Given the description of an element on the screen output the (x, y) to click on. 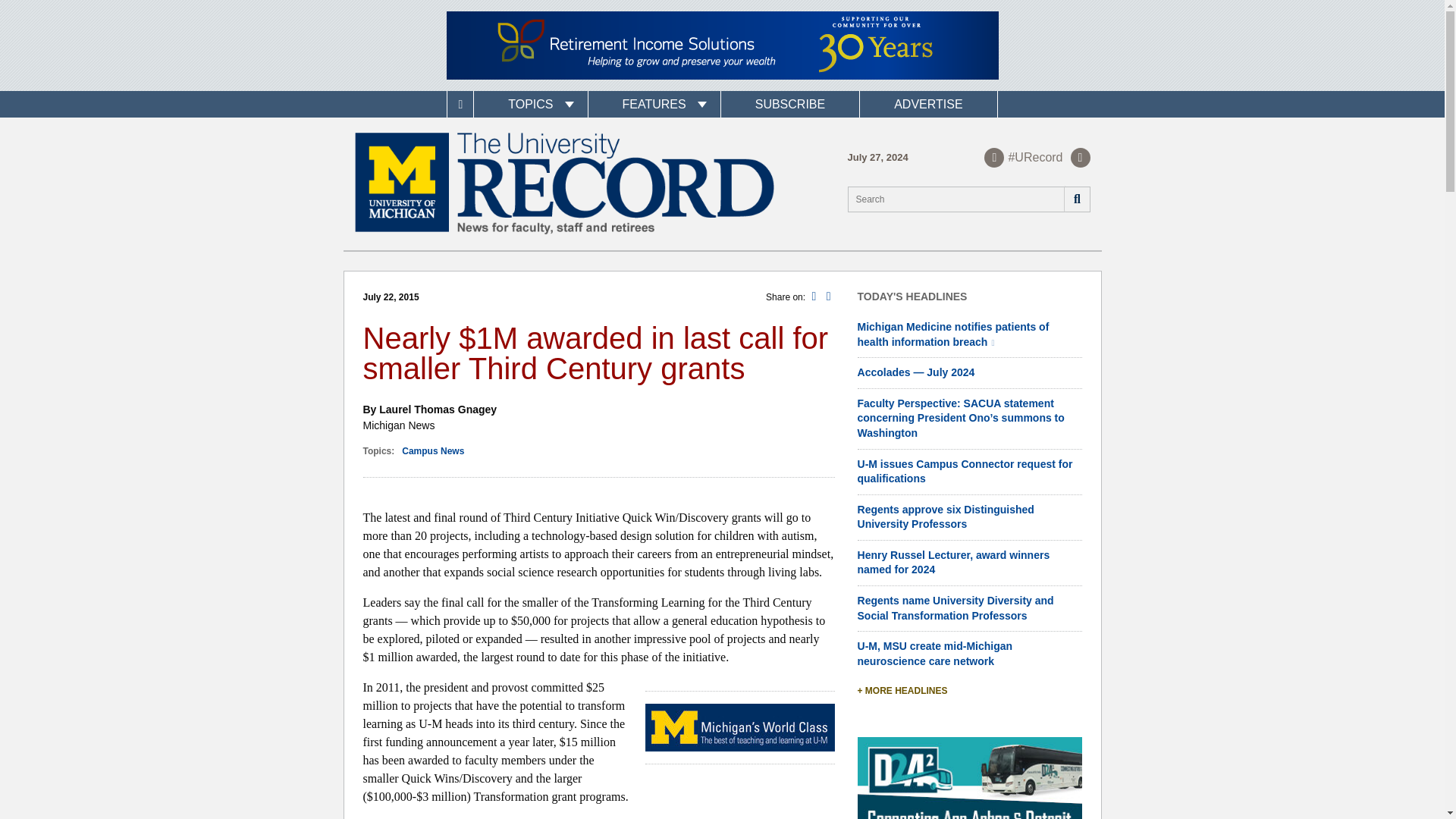
FEATURES (654, 103)
Search (1075, 198)
RSS Feed (1080, 156)
The University Record (564, 183)
TOPICS (530, 103)
HOME (459, 103)
ADVERTISE (927, 103)
RSS (1080, 156)
Search for: (968, 199)
SUBSCRIBE (789, 103)
Campus News (432, 450)
